Given the description of an element on the screen output the (x, y) to click on. 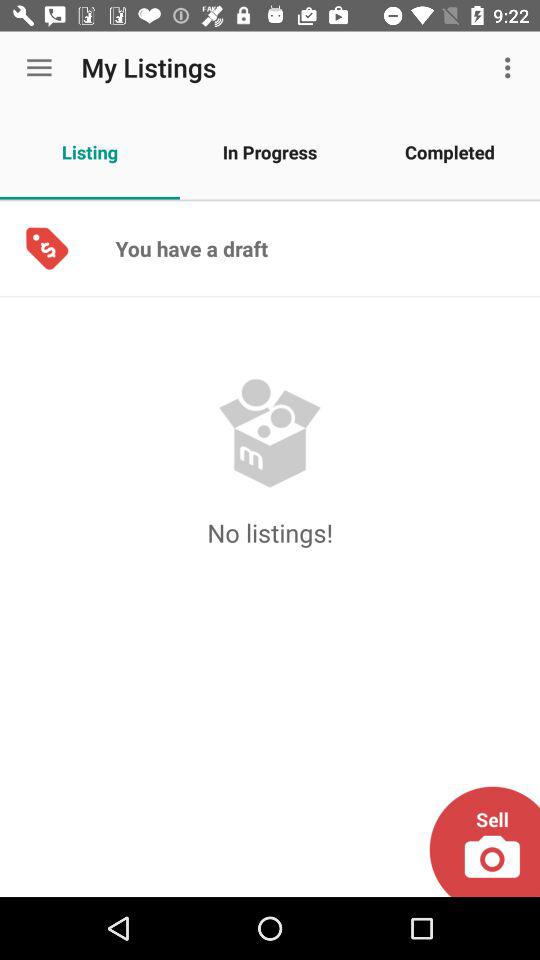
in progress (269, 151)
go to more icon (509, 67)
click on sell icon (484, 841)
select the icon above the text no listings (269, 433)
select the icon which  is left to you have a draft (46, 248)
